Given the description of an element on the screen output the (x, y) to click on. 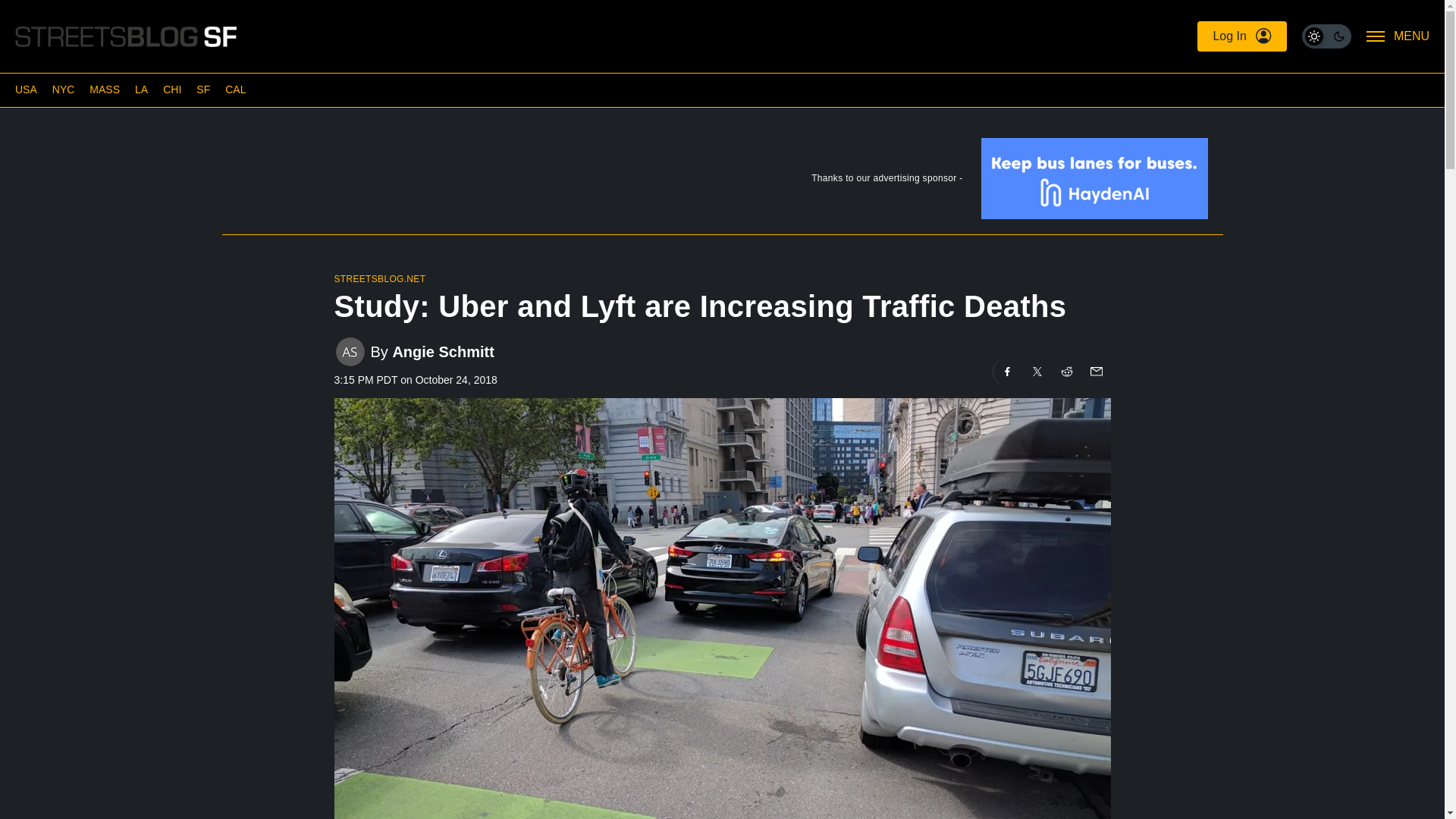
Share on Facebook (1007, 371)
Thanks to our advertising sponsor - (721, 181)
USA (25, 89)
CAL (235, 89)
MENU (1398, 36)
Log In (1240, 36)
Share on Reddit (1066, 371)
STREETSBLOG.NET (379, 278)
Share on Email (1095, 371)
CHI (171, 89)
